Given the description of an element on the screen output the (x, y) to click on. 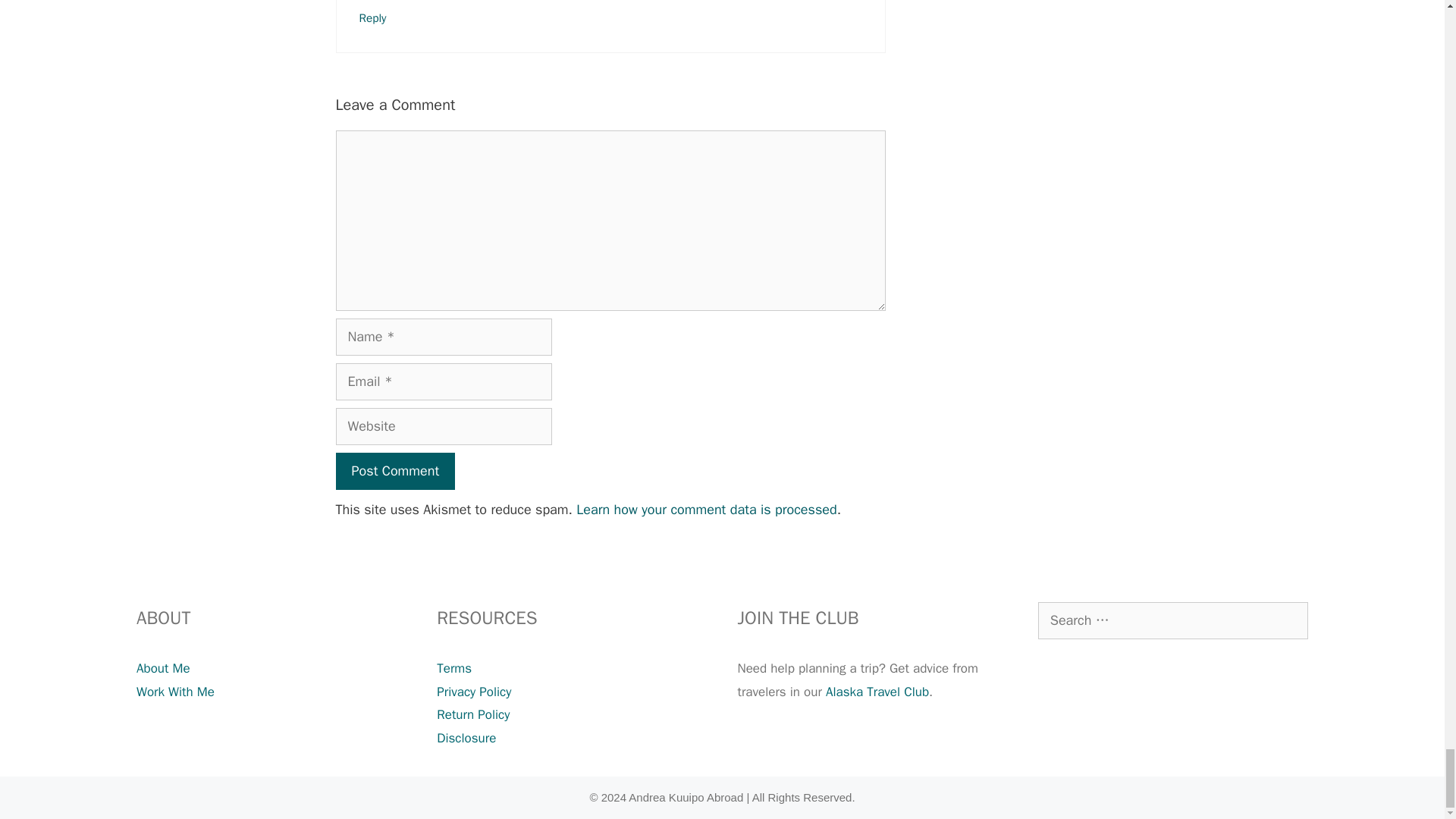
Search for: (1172, 620)
Post Comment (394, 470)
